Given the description of an element on the screen output the (x, y) to click on. 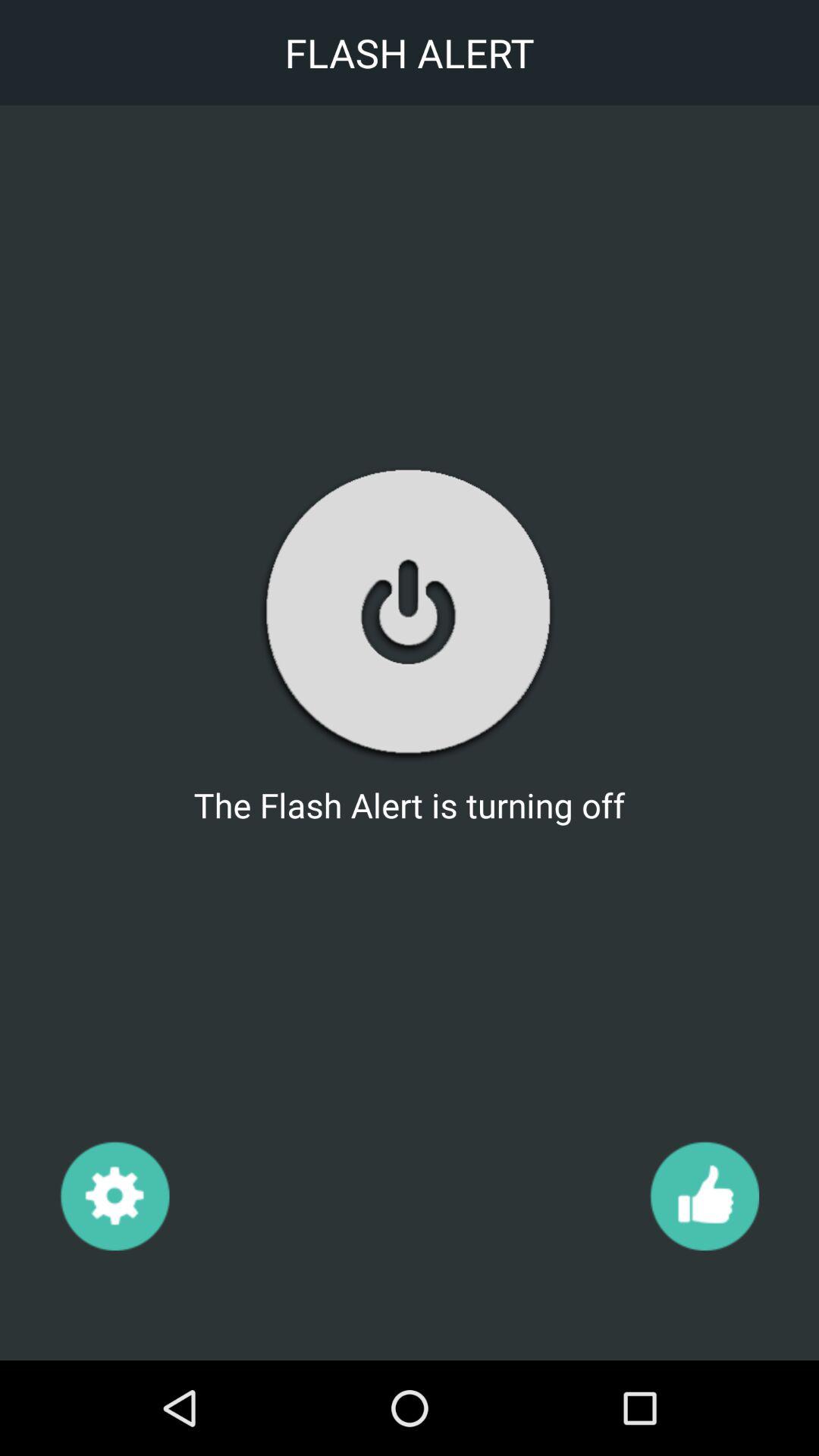
like this (704, 1195)
